Given the description of an element on the screen output the (x, y) to click on. 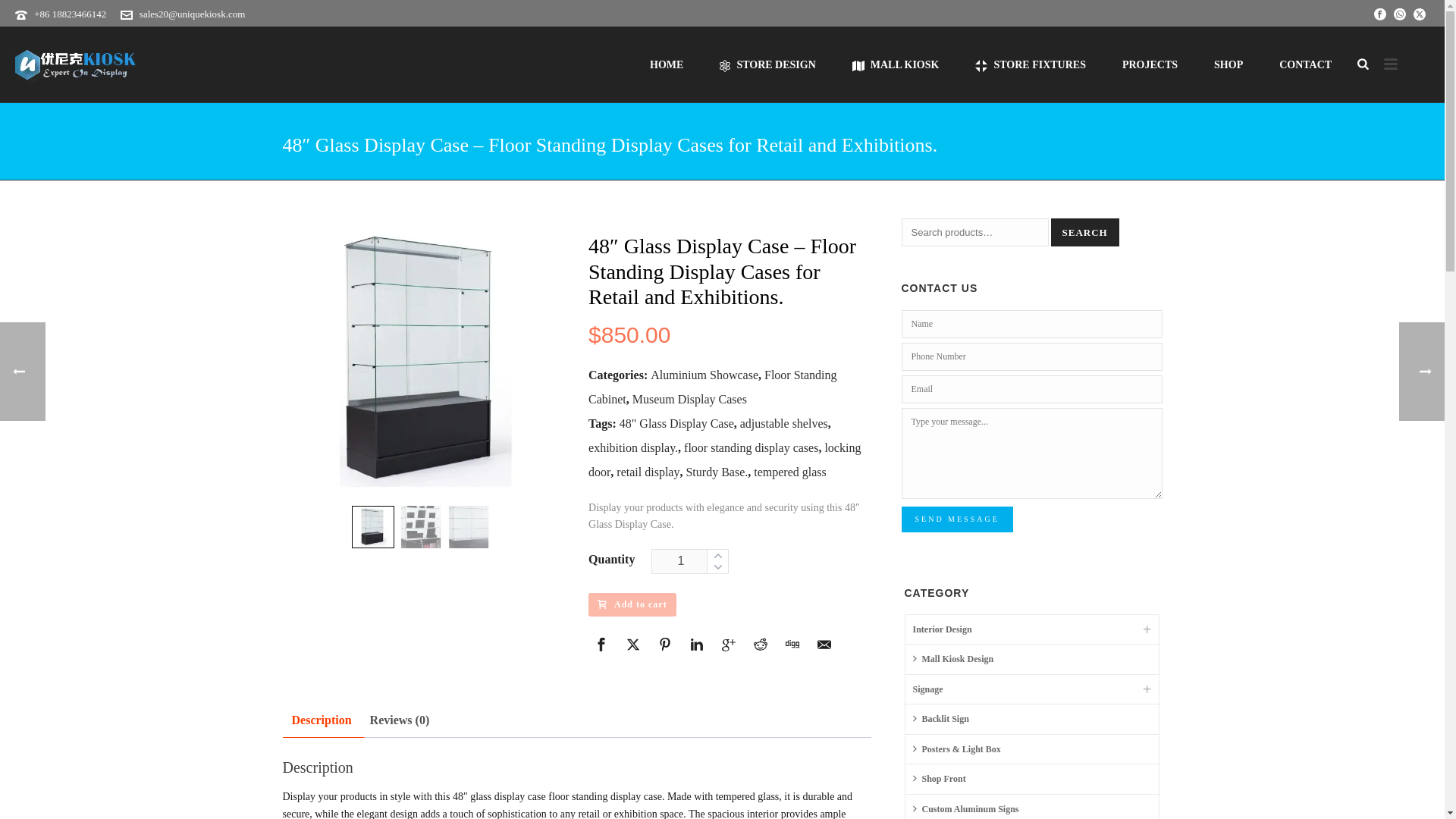
CONTACT (1305, 64)
1 (689, 561)
MALL KIOSK (895, 64)
HOME (666, 64)
MALL KIOSK (895, 64)
SHOP (1227, 64)
PROJECTS (1149, 64)
STORE FIXTURES (1030, 64)
STORE DESIGN (767, 64)
Unique Kiosk (75, 64)
Qty (689, 561)
HOME (666, 64)
STORE DESIGN (767, 64)
STORE FIXTURES (1030, 64)
